Given the description of an element on the screen output the (x, y) to click on. 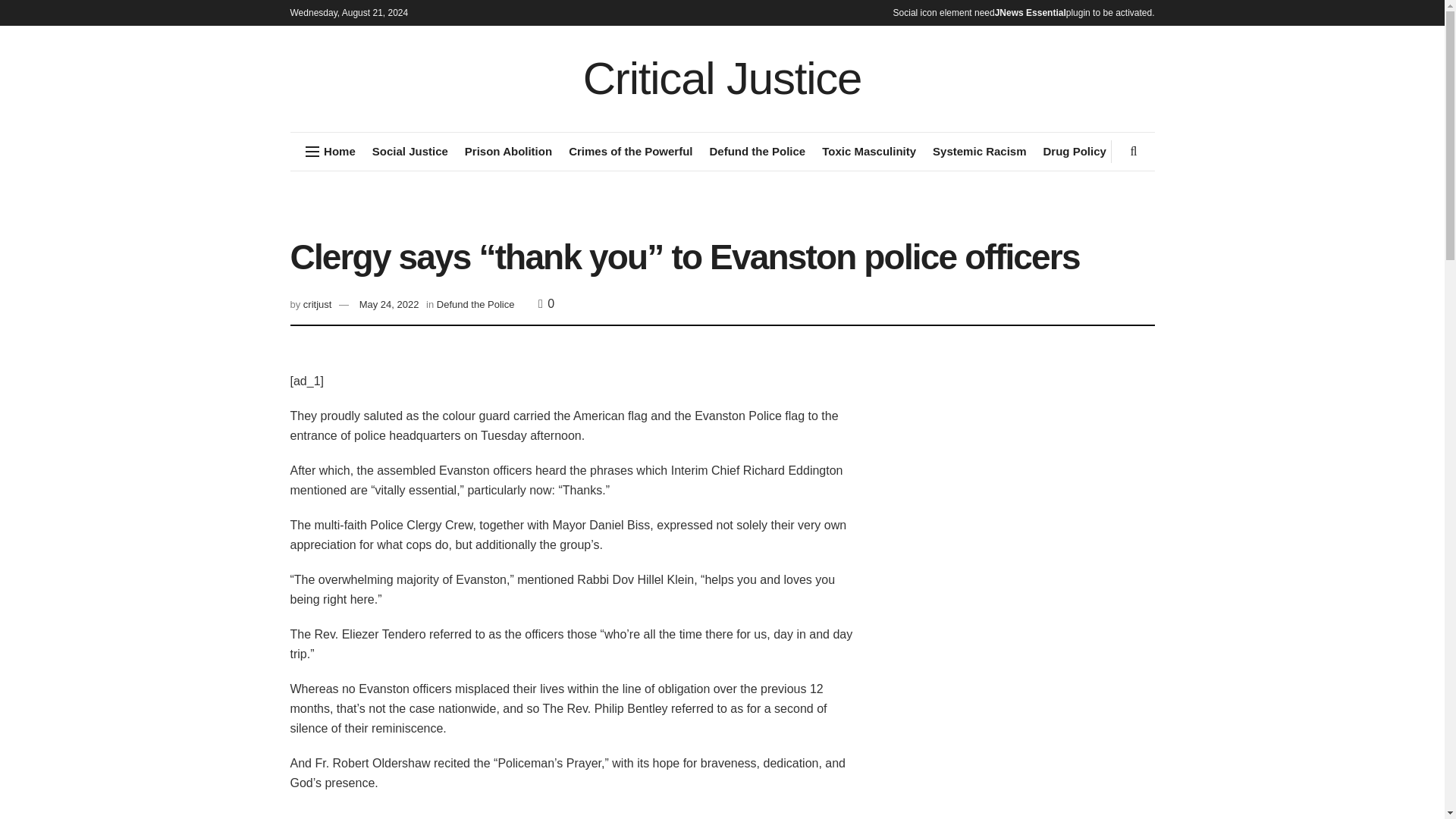
0 (546, 303)
Crimes of the Powerful (631, 151)
Social Justice (410, 151)
Systemic Racism (979, 151)
Prison Abolition (507, 151)
Critical Justice (722, 78)
critjust (316, 304)
Defund the Police (757, 151)
May 24, 2022 (389, 304)
Toxic Masculinity (868, 151)
